Given the description of an element on the screen output the (x, y) to click on. 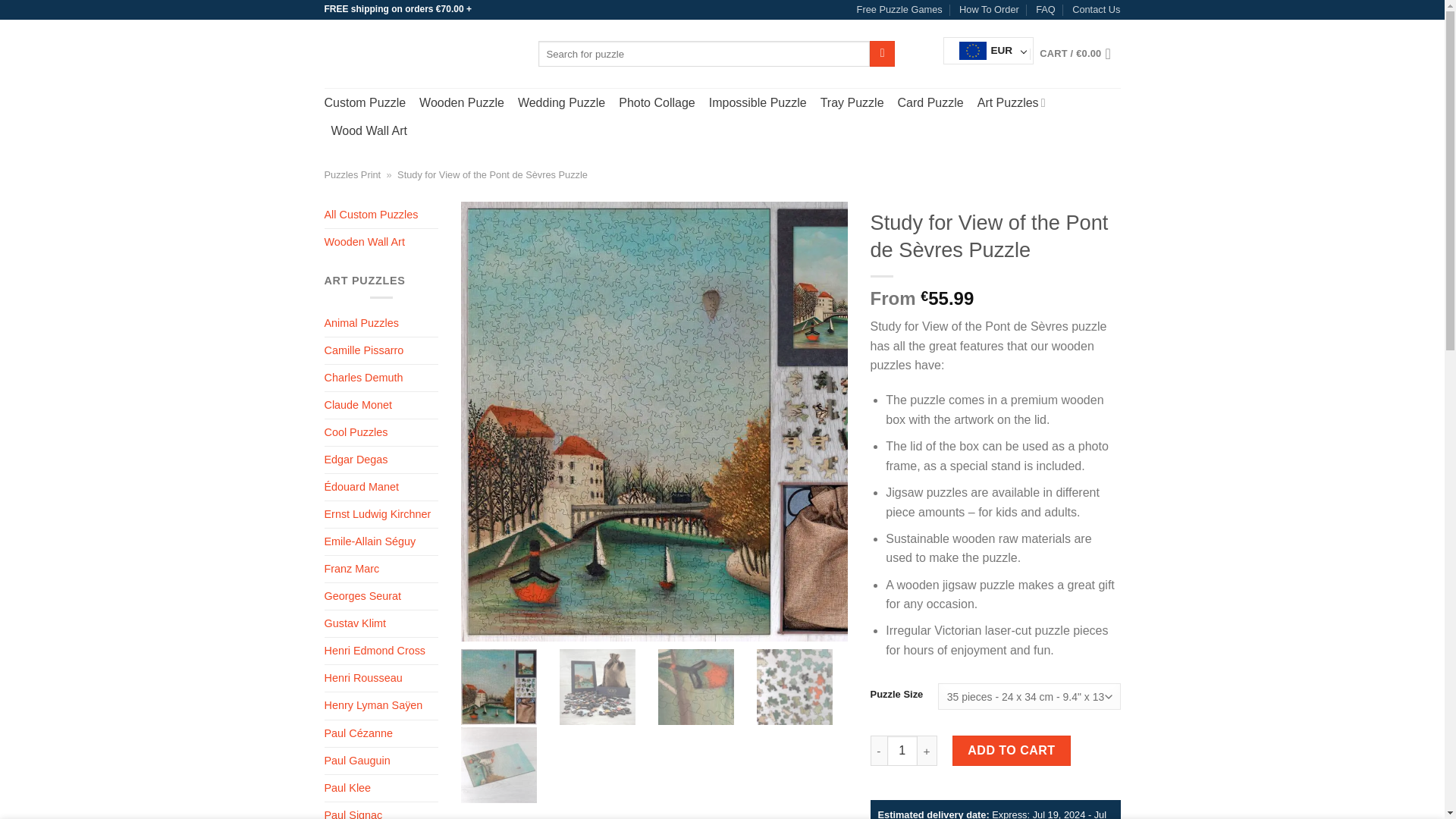
Impossible Puzzle (757, 103)
Search (882, 53)
Card Puzzle (930, 103)
Custom Puzzle (365, 103)
Puzzles Print (352, 174)
How To Order (989, 9)
Contact Us (1095, 9)
Cart (1079, 53)
Free Puzzle Games (899, 9)
Photo Collage (656, 103)
Tray Puzzle (852, 103)
Art Puzzles (1012, 102)
Wedding Puzzle (561, 103)
1 (901, 750)
Wooden Puzzle (461, 103)
